Given the description of an element on the screen output the (x, y) to click on. 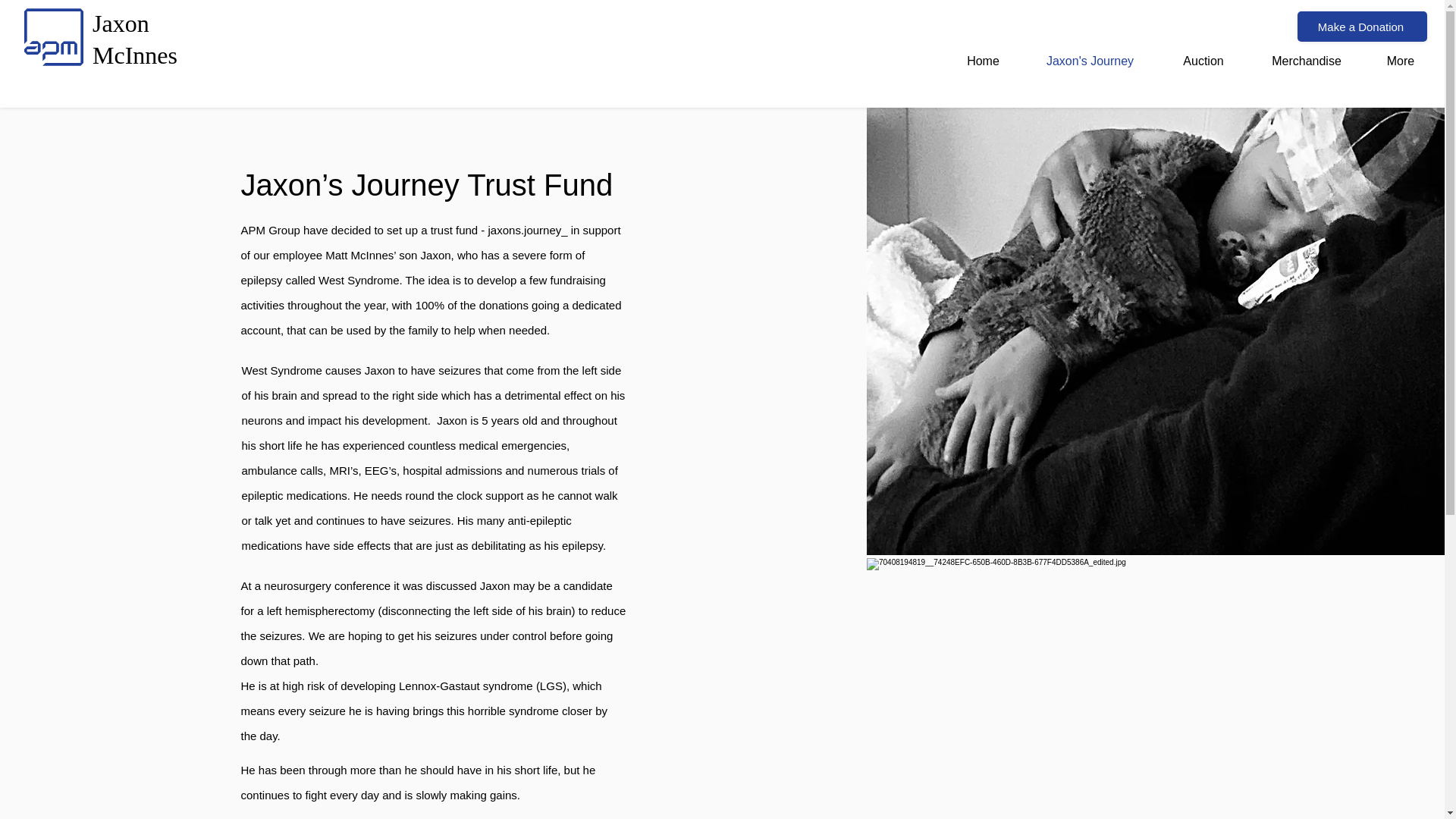
Auction (135, 38)
Merchandise (1203, 61)
Make a Donation (1306, 61)
Home (1361, 26)
Jaxon's Journey (983, 61)
